Given the description of an element on the screen output the (x, y) to click on. 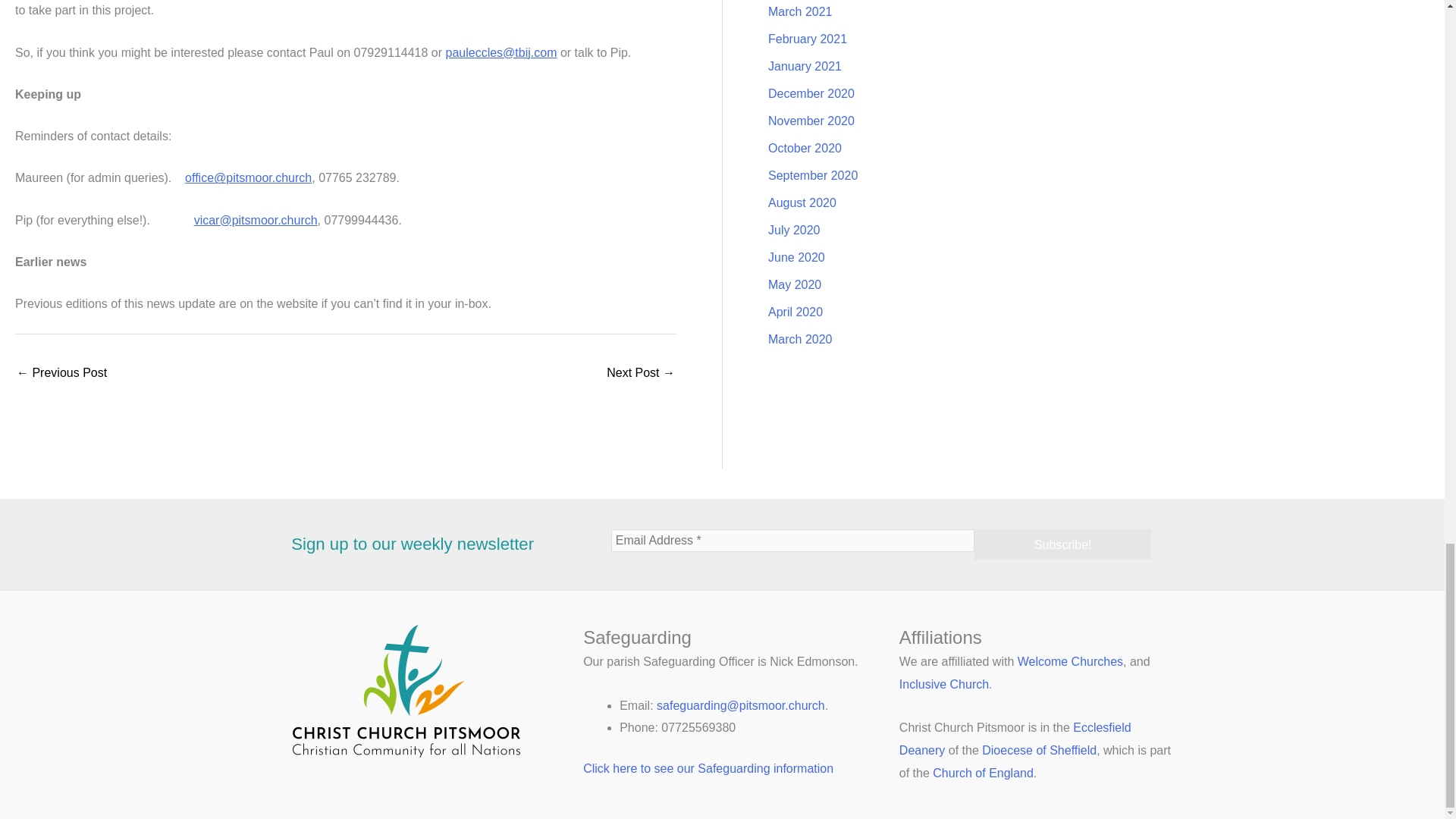
Weekly news for 14.5.23 (61, 374)
Subscribe! (1062, 544)
Email Address (793, 540)
Weekly news for 28.5.23 (641, 374)
